Given the description of an element on the screen output the (x, y) to click on. 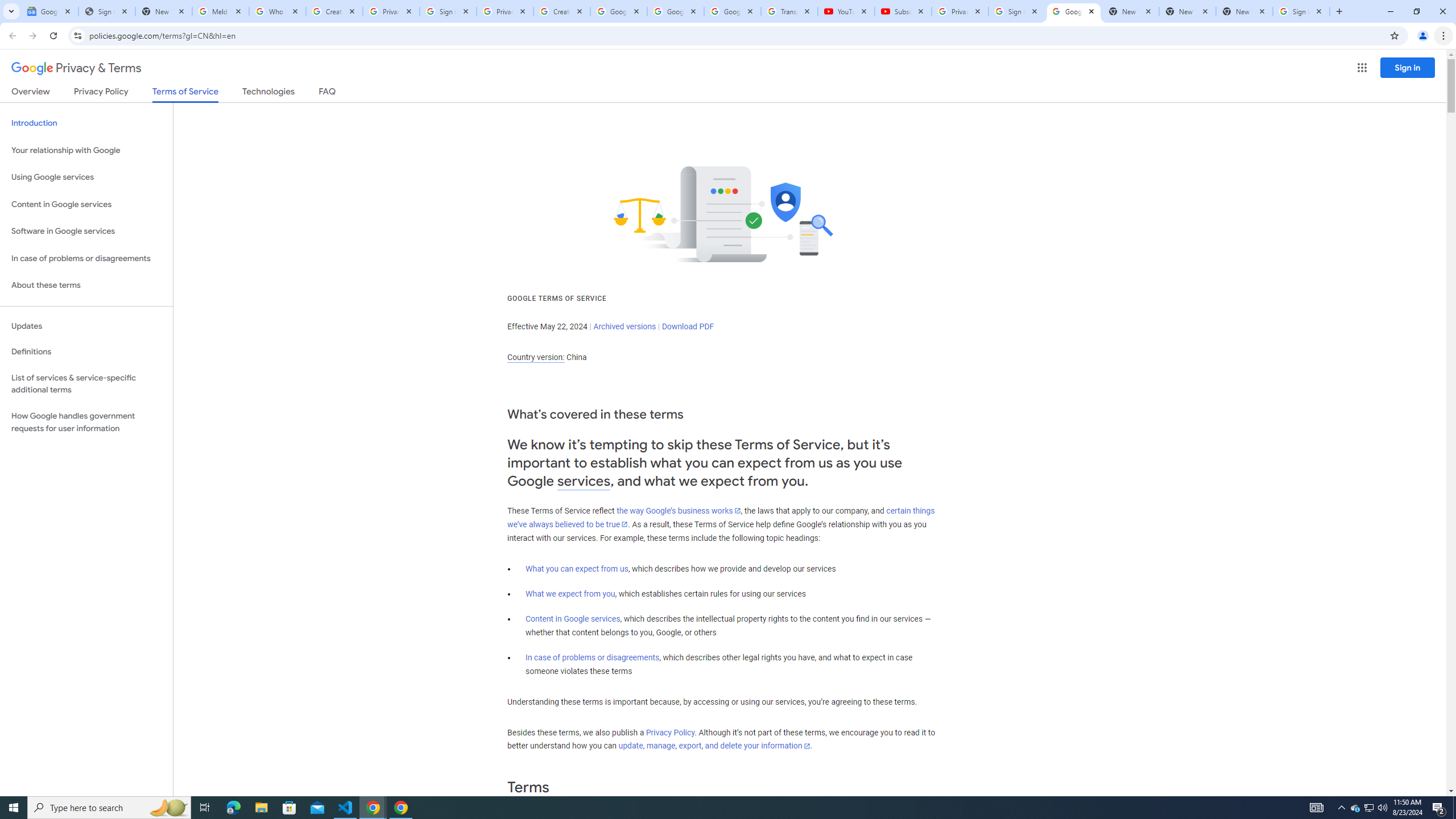
Sign in - Google Accounts (1015, 11)
Create your Google Account (561, 11)
In case of problems or disagreements (592, 657)
Subscriptions - YouTube (902, 11)
services (583, 480)
